Given the description of an element on the screen output the (x, y) to click on. 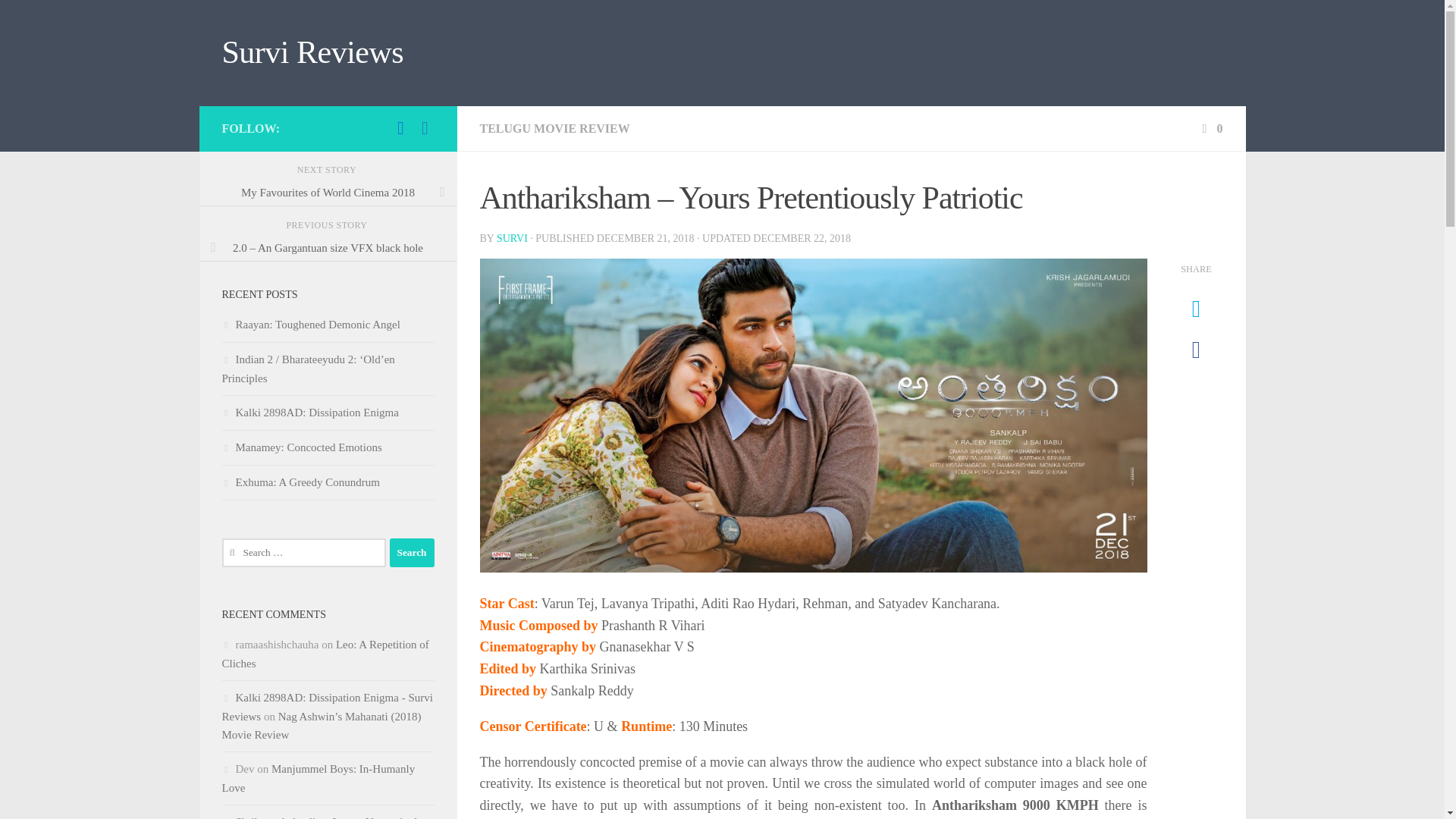
Manjummel Boys: In-Humanly Love (317, 777)
Follow me on Twitter (400, 127)
Raayan: Toughened Demonic Angel (309, 324)
Leo: A Repetition of Cliches (324, 653)
Search (411, 552)
Search (411, 552)
Skip to content (59, 20)
Exhuma: A Greedy Conundrum (299, 481)
Kalki 2898AD: Dissipation Enigma - Survi Reviews (326, 706)
Search (411, 552)
